Given the description of an element on the screen output the (x, y) to click on. 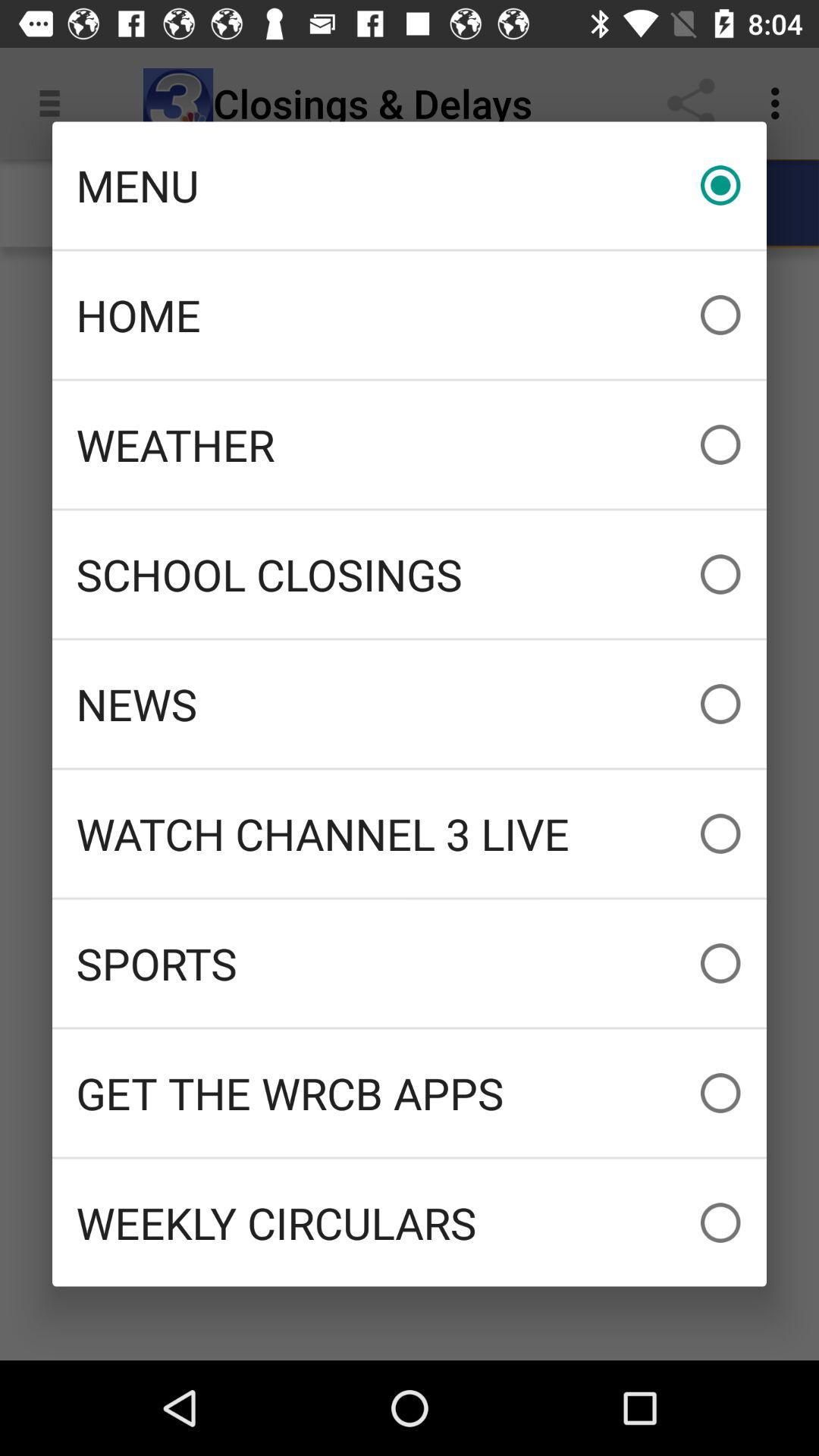
jump to the school closings icon (409, 574)
